Given the description of an element on the screen output the (x, y) to click on. 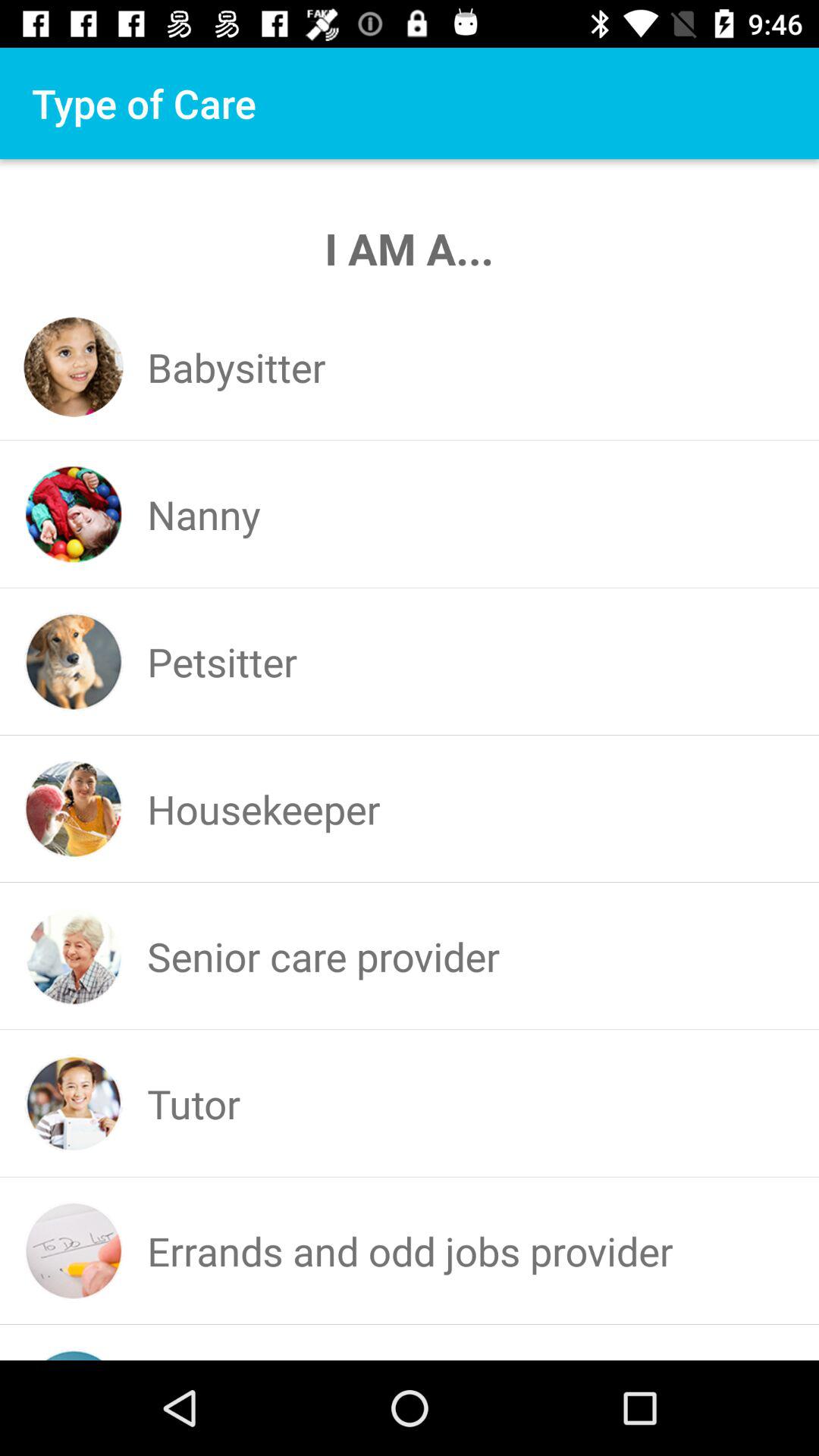
press item above the housekeeper (222, 661)
